Given the description of an element on the screen output the (x, y) to click on. 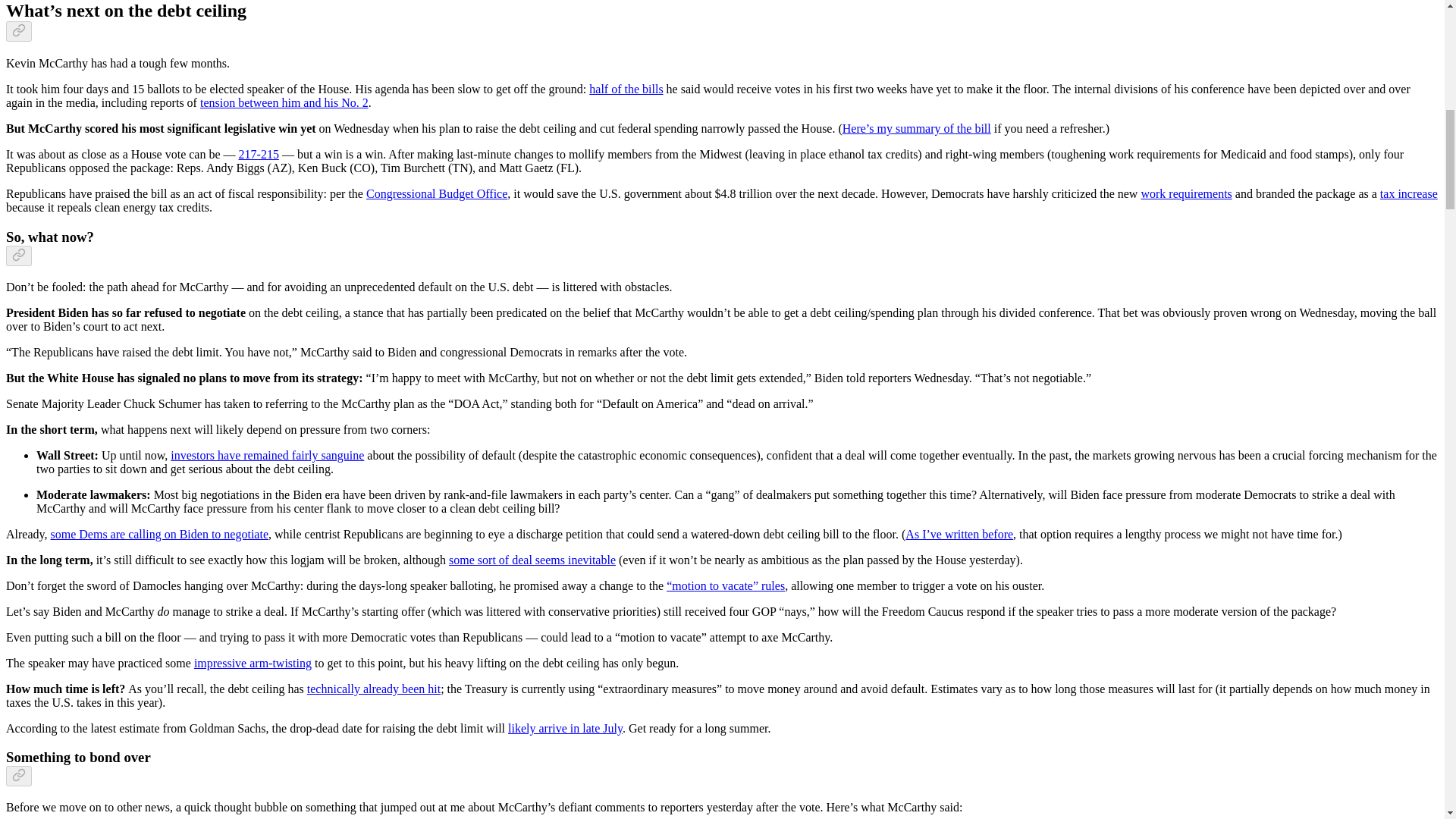
some Dems are calling on Biden to negotiate (158, 533)
Congressional Budget Office (436, 193)
work requirements (1185, 193)
tension between him and his No. 2 (284, 102)
half of the bills (625, 88)
some sort of deal seems inevitable (531, 559)
investors have remained fairly sanguine (267, 454)
217-215 (258, 154)
